Given the description of an element on the screen output the (x, y) to click on. 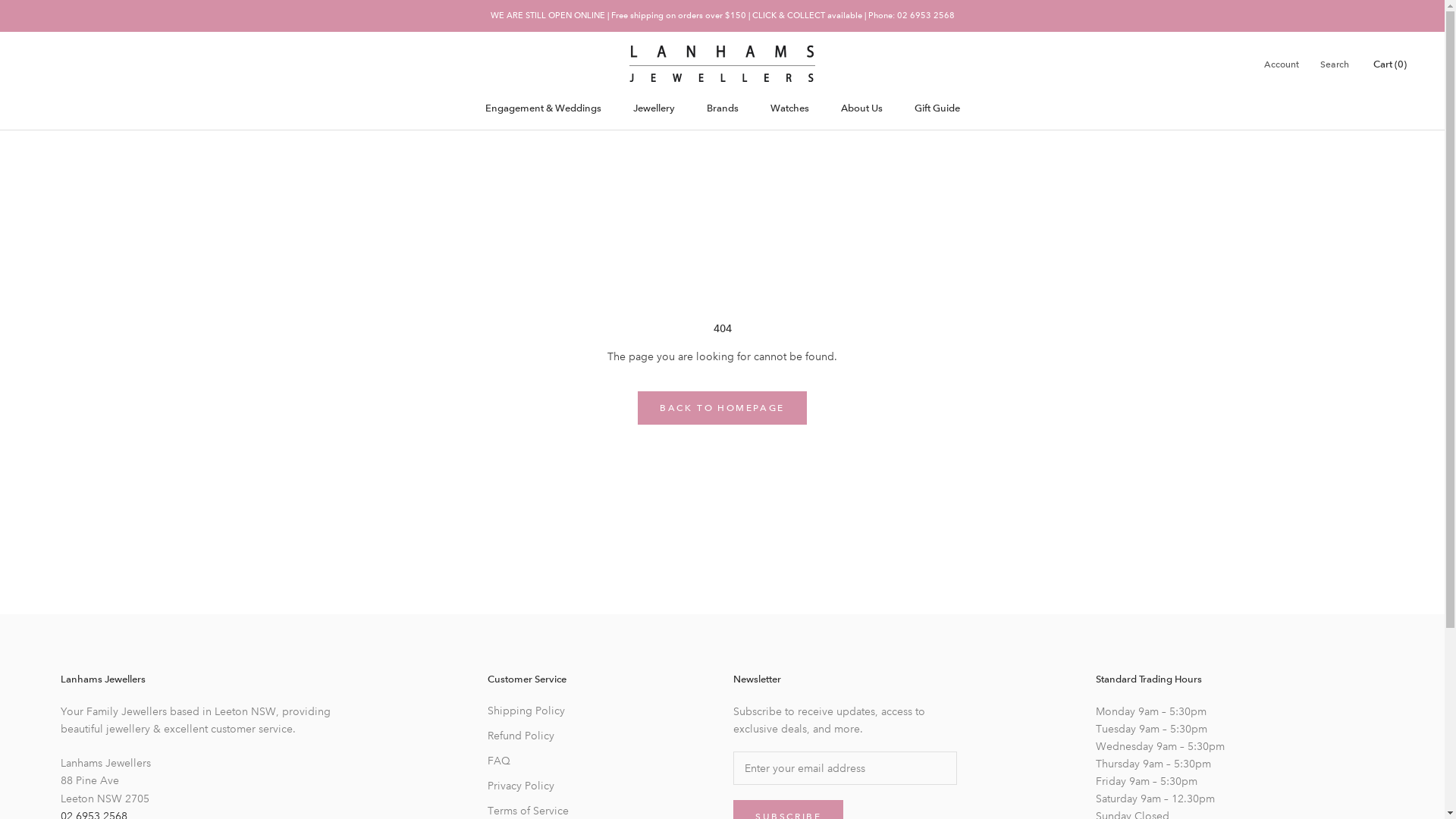
BACK TO HOMEPAGE Element type: text (721, 407)
Search Element type: text (1334, 64)
Brands
Brands Element type: text (722, 107)
Cart (0) Element type: text (1389, 63)
Privacy Policy Element type: text (541, 785)
FAQ Element type: text (541, 760)
Engagement & Weddings
Engagement & Weddings Element type: text (543, 107)
Gift Guide
Gift Guide Element type: text (937, 107)
About Us
About Us Element type: text (860, 107)
Shipping Policy Element type: text (541, 710)
Account Element type: text (1281, 64)
Refund Policy Element type: text (541, 735)
Jewellery
Jewellery Element type: text (653, 107)
Watches
Watches Element type: text (789, 107)
